Given the description of an element on the screen output the (x, y) to click on. 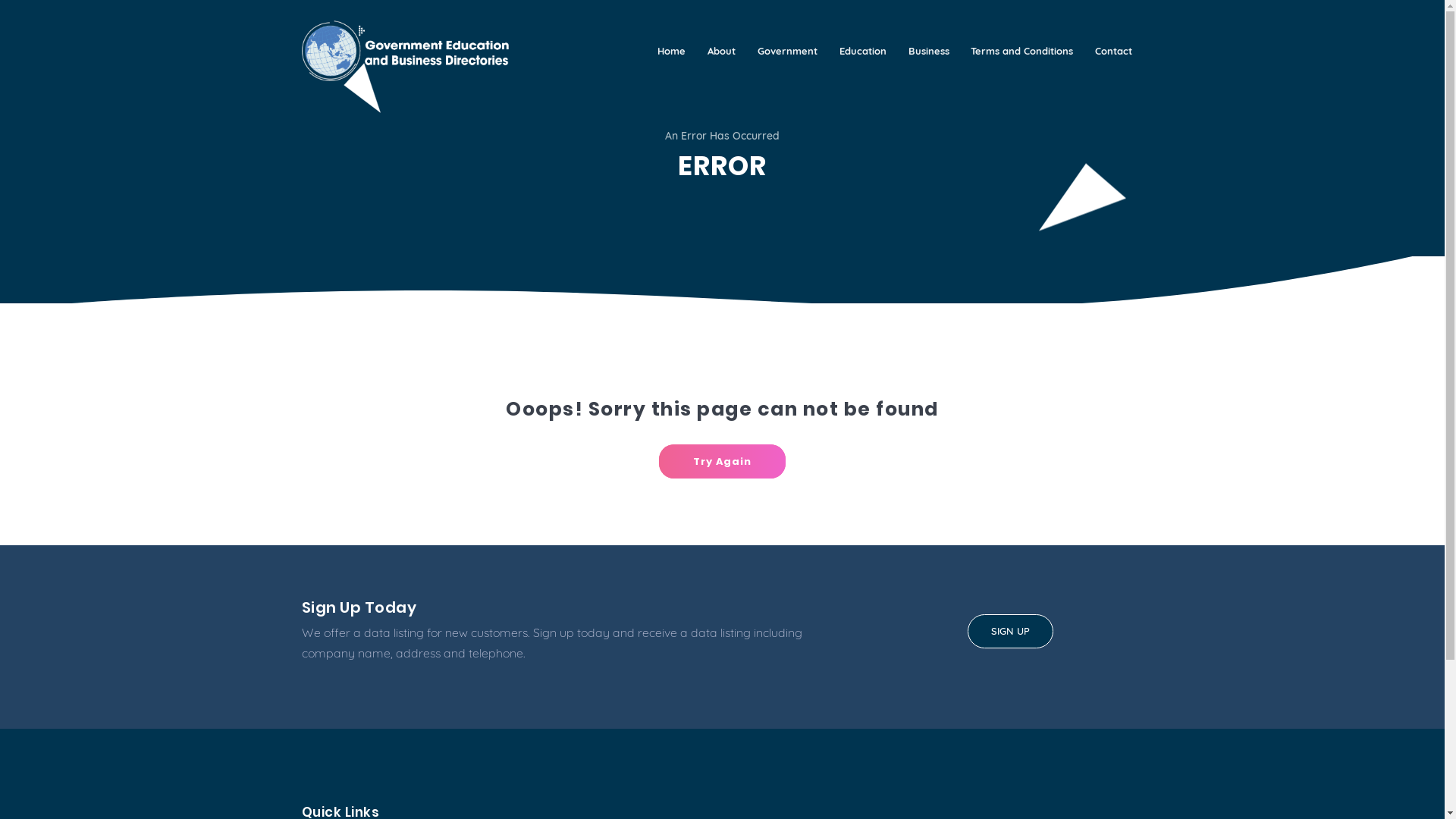
Government Element type: text (787, 50)
About Element type: text (721, 50)
Business Element type: text (928, 50)
Education Element type: text (862, 50)
Try Again Element type: text (721, 461)
Contact Element type: text (1113, 50)
Home Element type: text (671, 50)
Terms and Conditions Element type: text (1022, 50)
SIGN UP Element type: text (1010, 631)
